Given the description of an element on the screen output the (x, y) to click on. 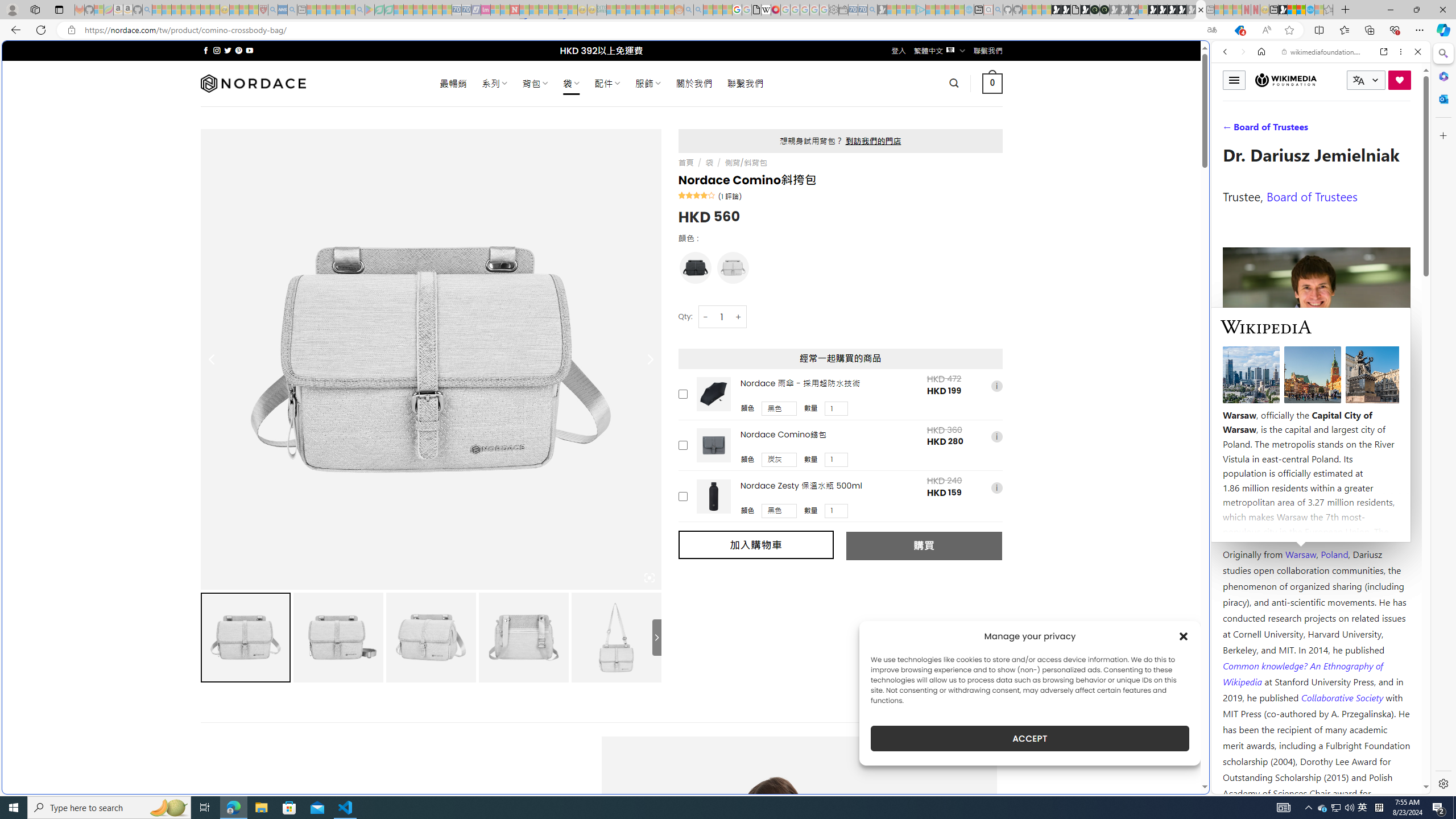
Kozminski University (1316, 486)
Tabs you've opened (885, 151)
